Given the description of an element on the screen output the (x, y) to click on. 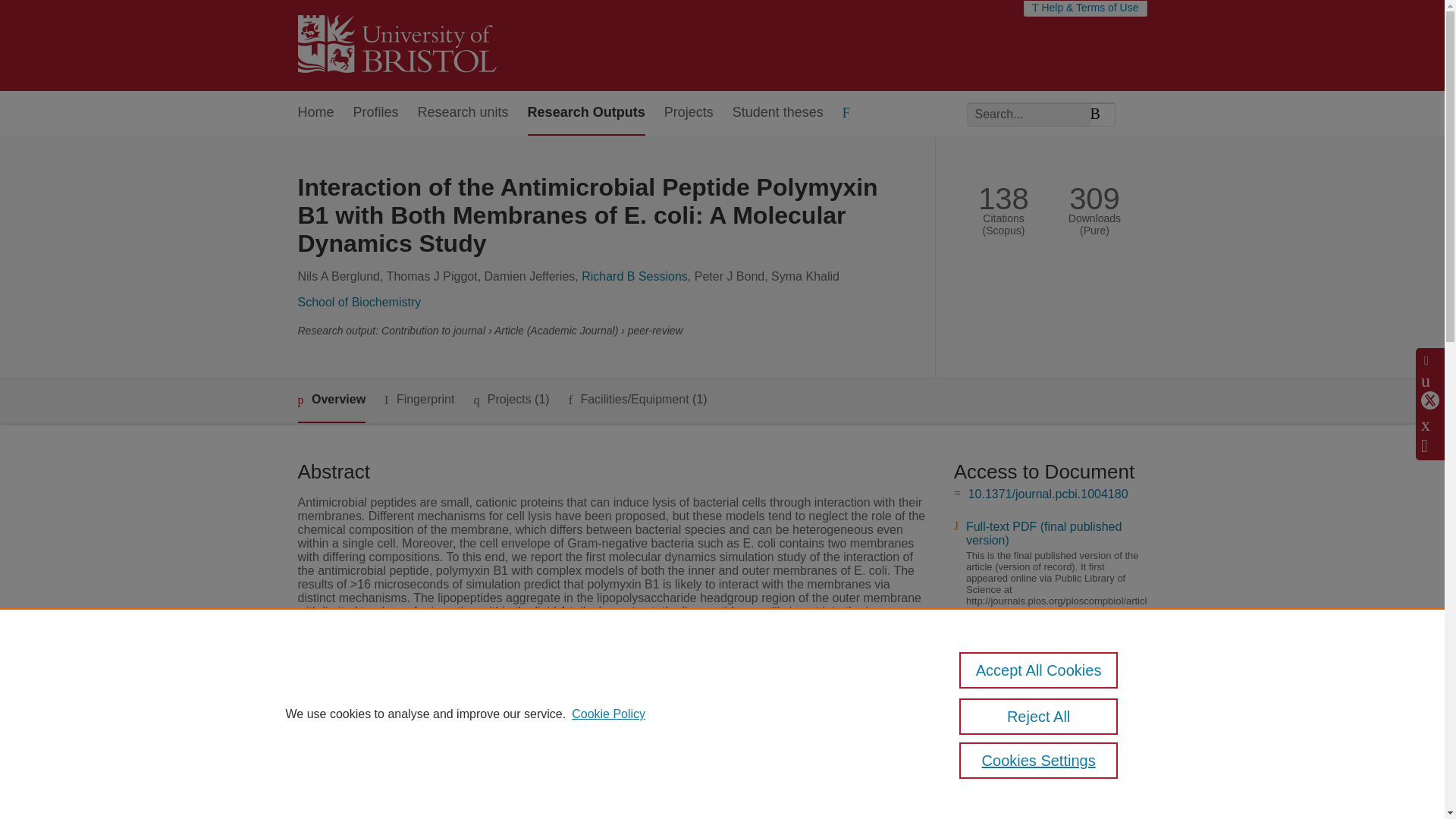
PLoS Computational Biology (586, 743)
CC BY (1020, 662)
University of Bristol Home (396, 45)
Profiles (375, 112)
Fingerprint (419, 399)
School of Biochemistry (358, 301)
Student theses (778, 112)
Research units (462, 112)
Richard B Sessions (633, 276)
